Given the description of an element on the screen output the (x, y) to click on. 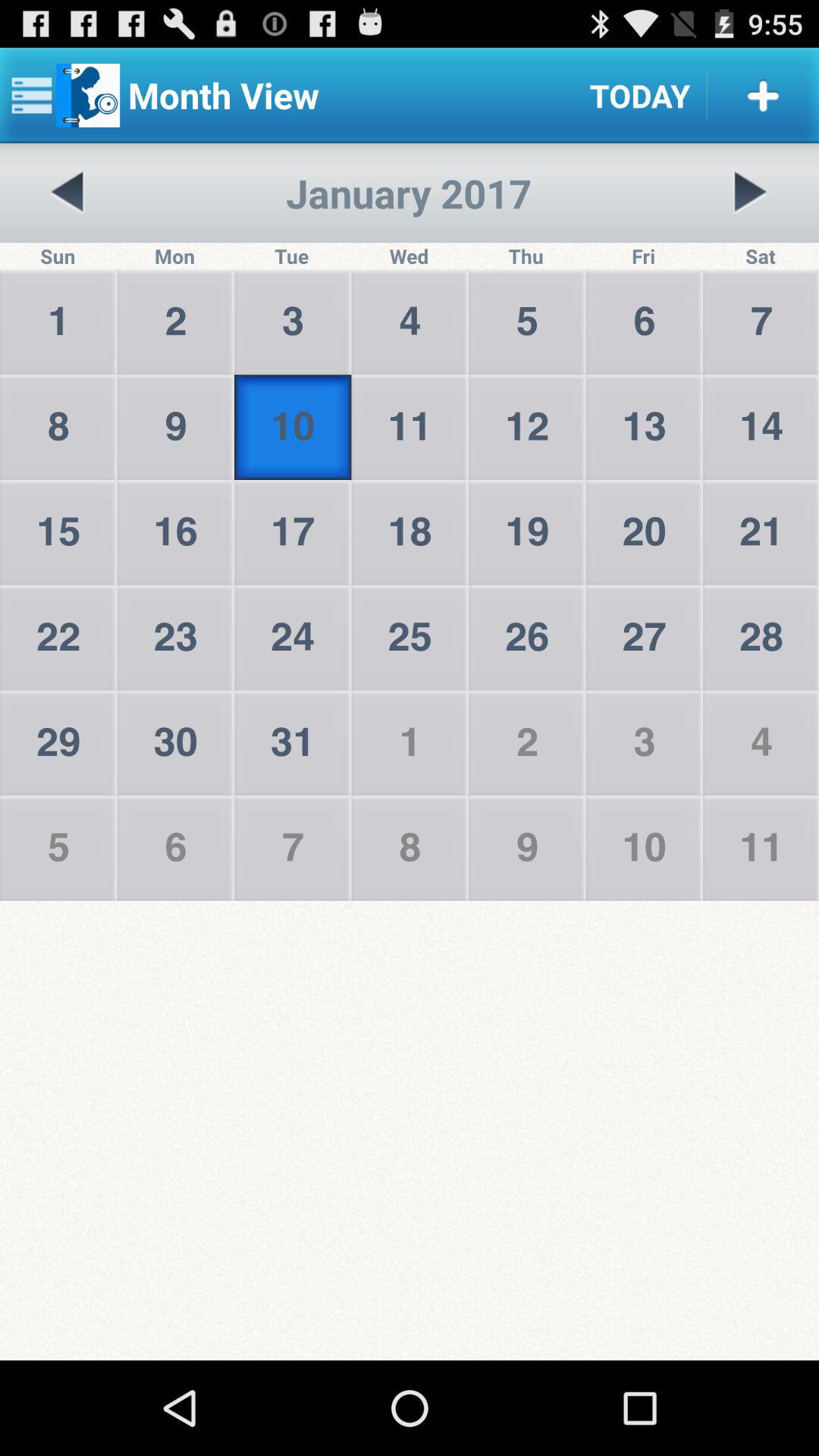
press the icon next to the thu (750, 192)
